Given the description of an element on the screen output the (x, y) to click on. 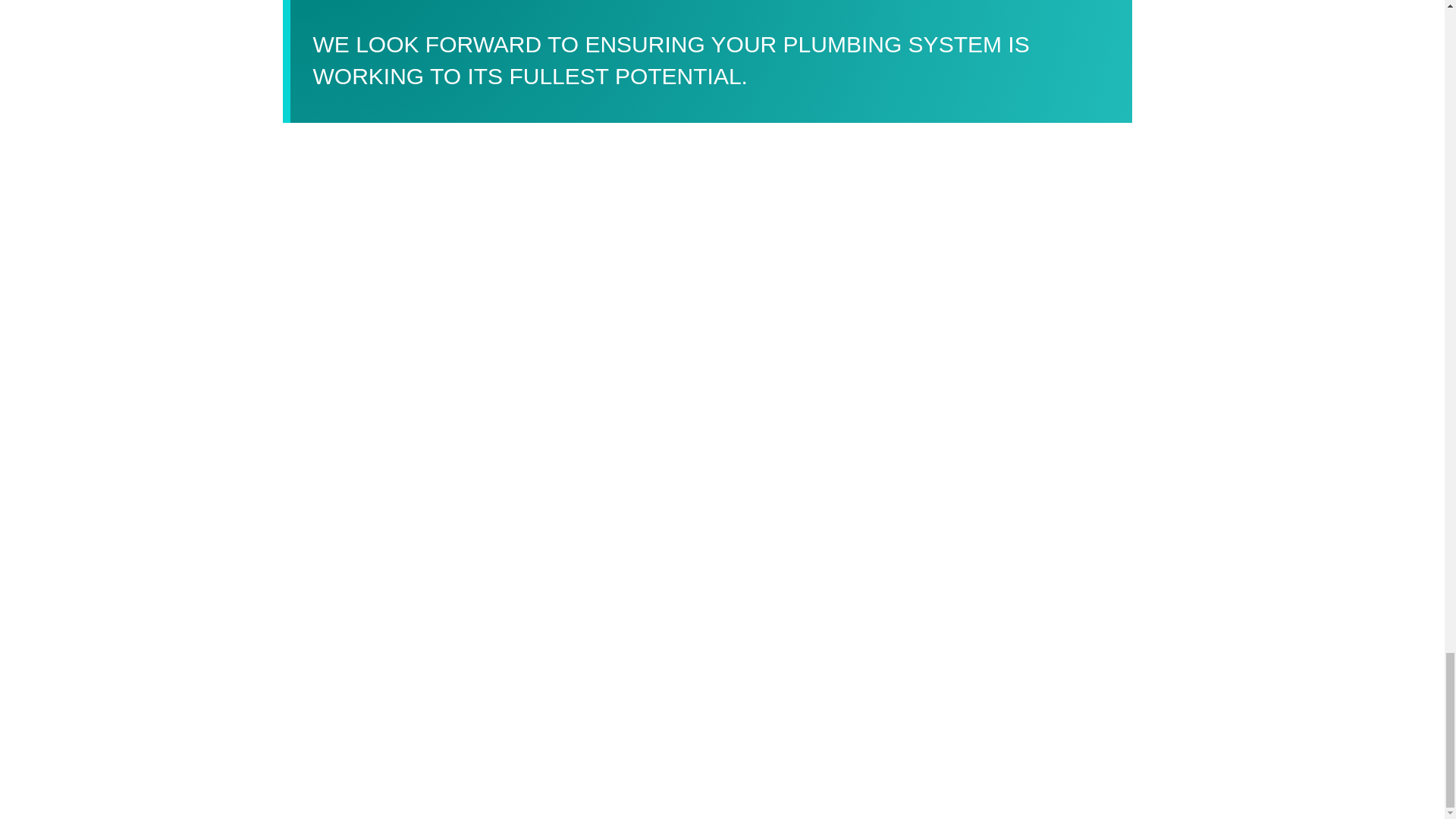
502-320-7553 (383, 1)
